Given the description of an element on the screen output the (x, y) to click on. 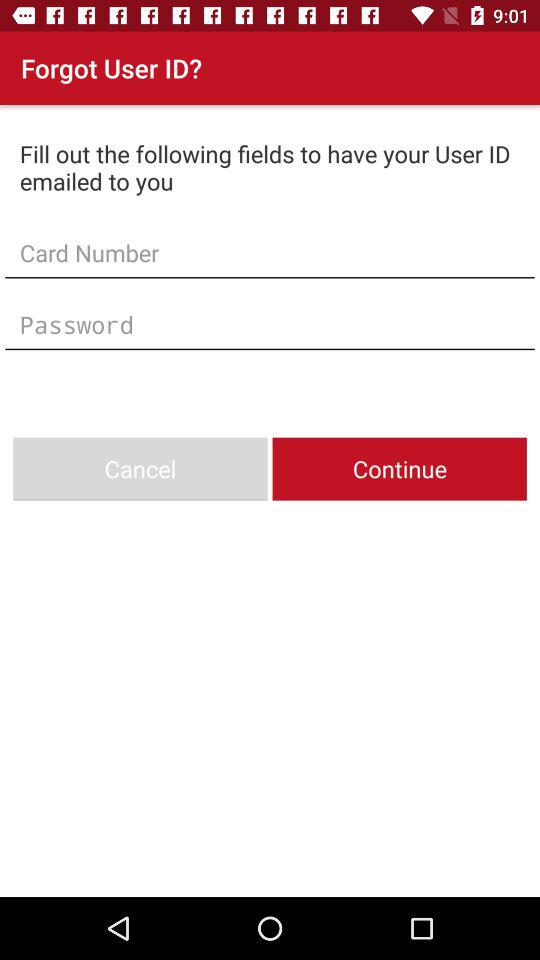
press the icon next to the continue item (140, 468)
